Given the description of an element on the screen output the (x, y) to click on. 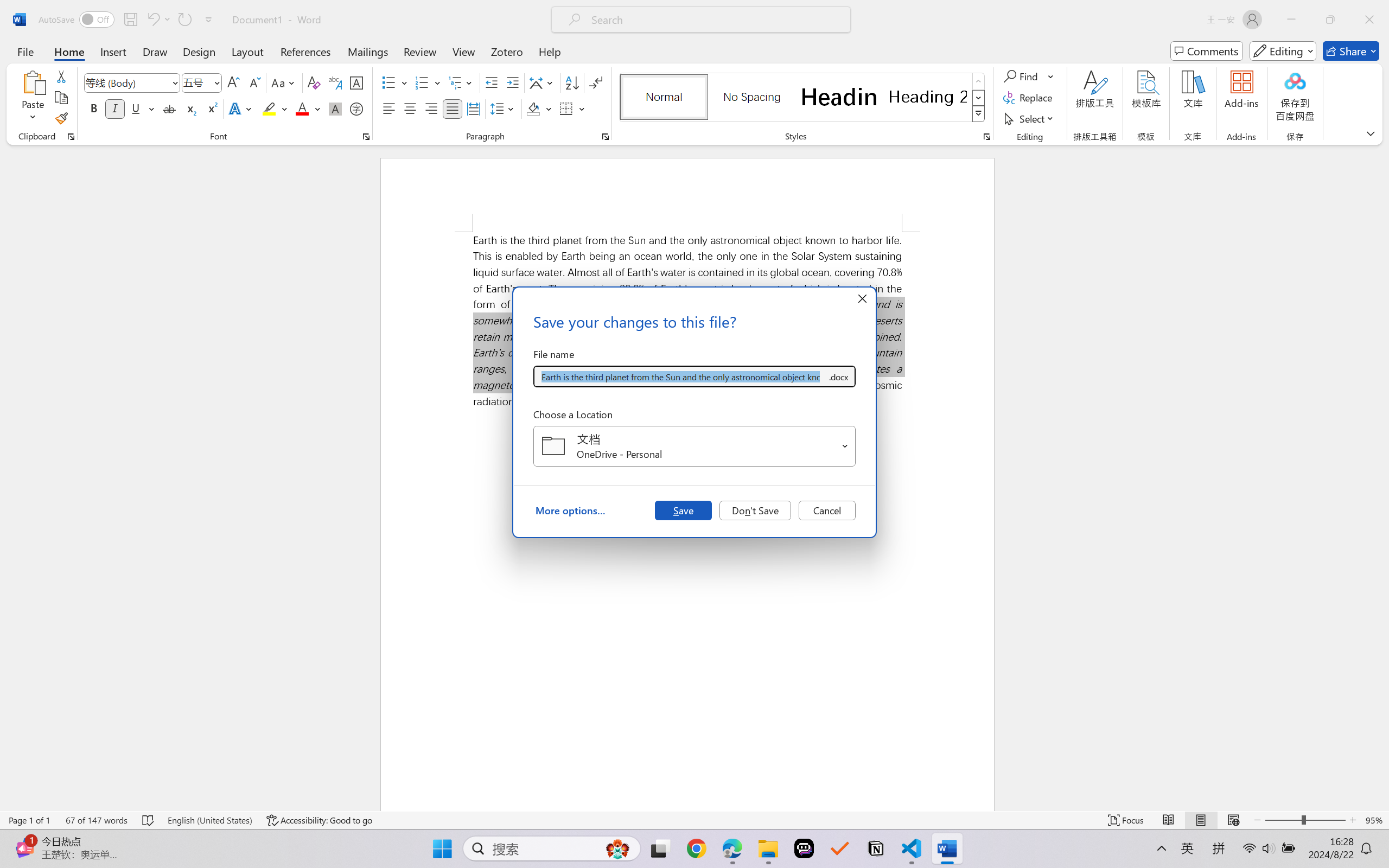
Cut (60, 75)
Distributed (473, 108)
Show/Hide Editing Marks (595, 82)
Font... (365, 136)
Styles... (986, 136)
Increase Indent (512, 82)
Undo Italic (158, 19)
Bold (94, 108)
